Given the description of an element on the screen output the (x, y) to click on. 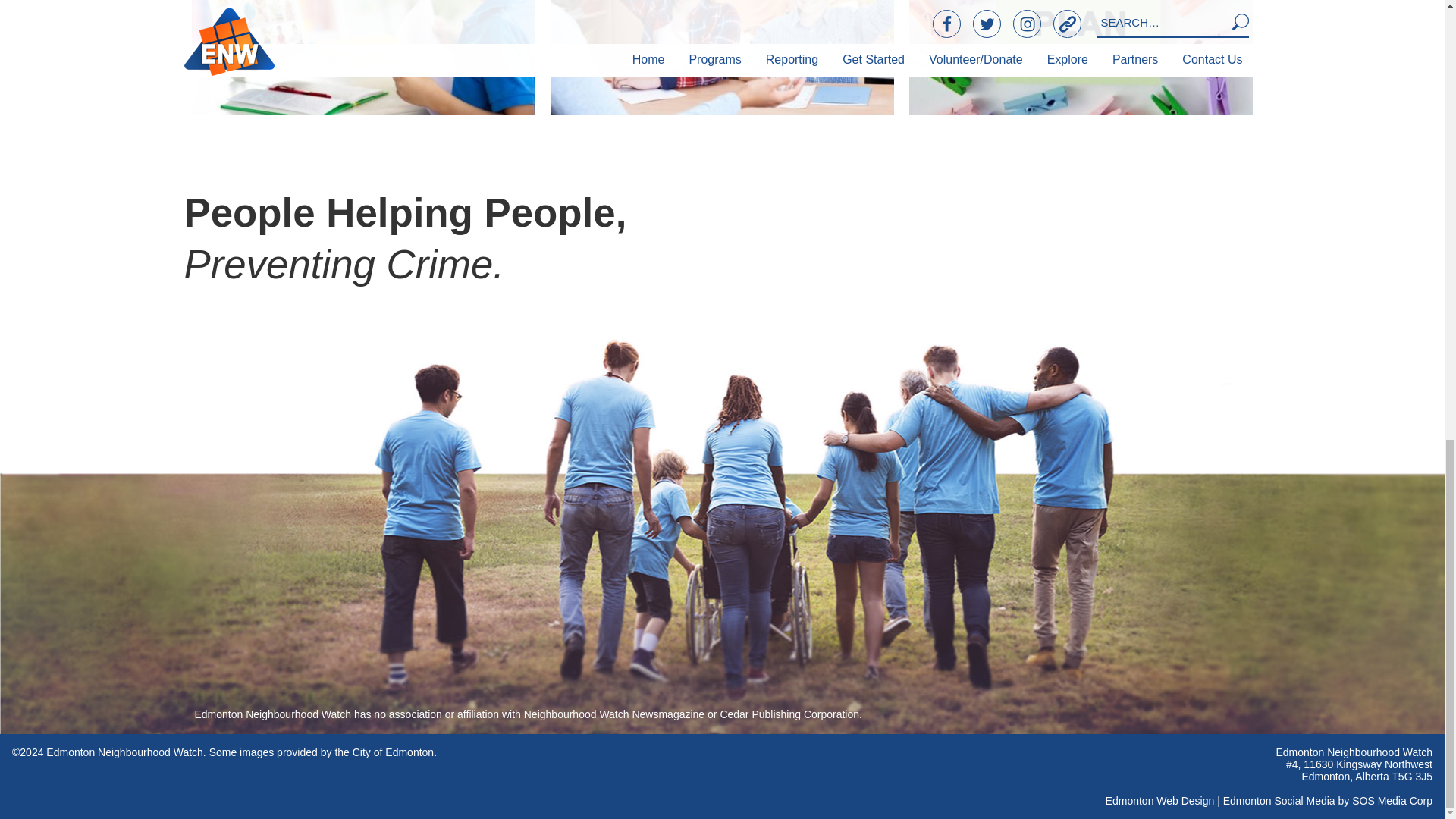
Kids Online Safety Courses (363, 57)
